Given the description of an element on the screen output the (x, y) to click on. 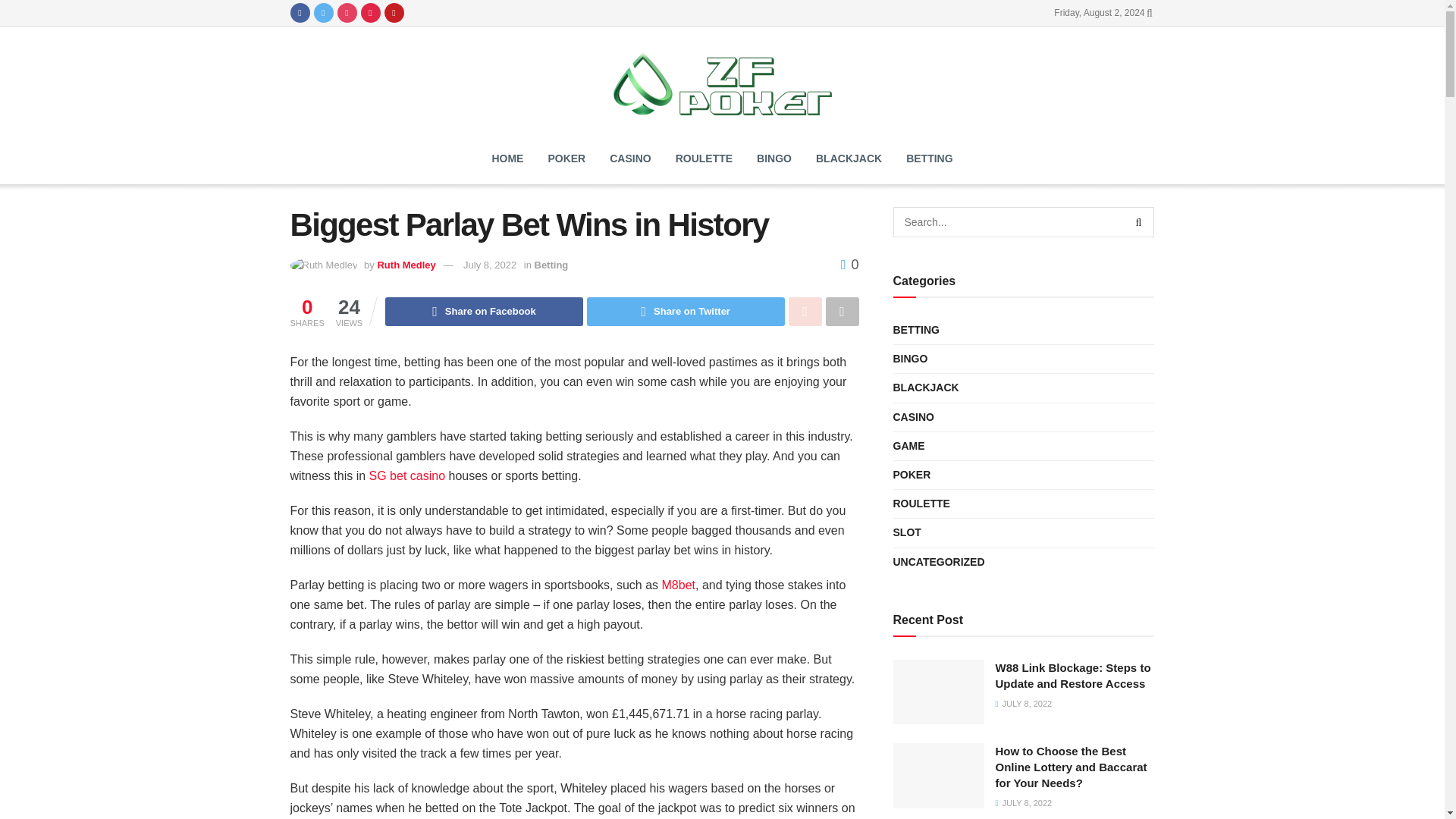
BINGO (773, 158)
ROULETTE (703, 158)
BETTING (928, 158)
POKER (565, 158)
Betting (550, 265)
Ruth Medley (406, 265)
July 8, 2022 (489, 265)
0 (850, 264)
Share on Facebook (484, 311)
CASINO (629, 158)
Share on Twitter (685, 311)
BLACKJACK (848, 158)
HOME (507, 158)
SG bet casino (407, 475)
M8bet (678, 584)
